Given the description of an element on the screen output the (x, y) to click on. 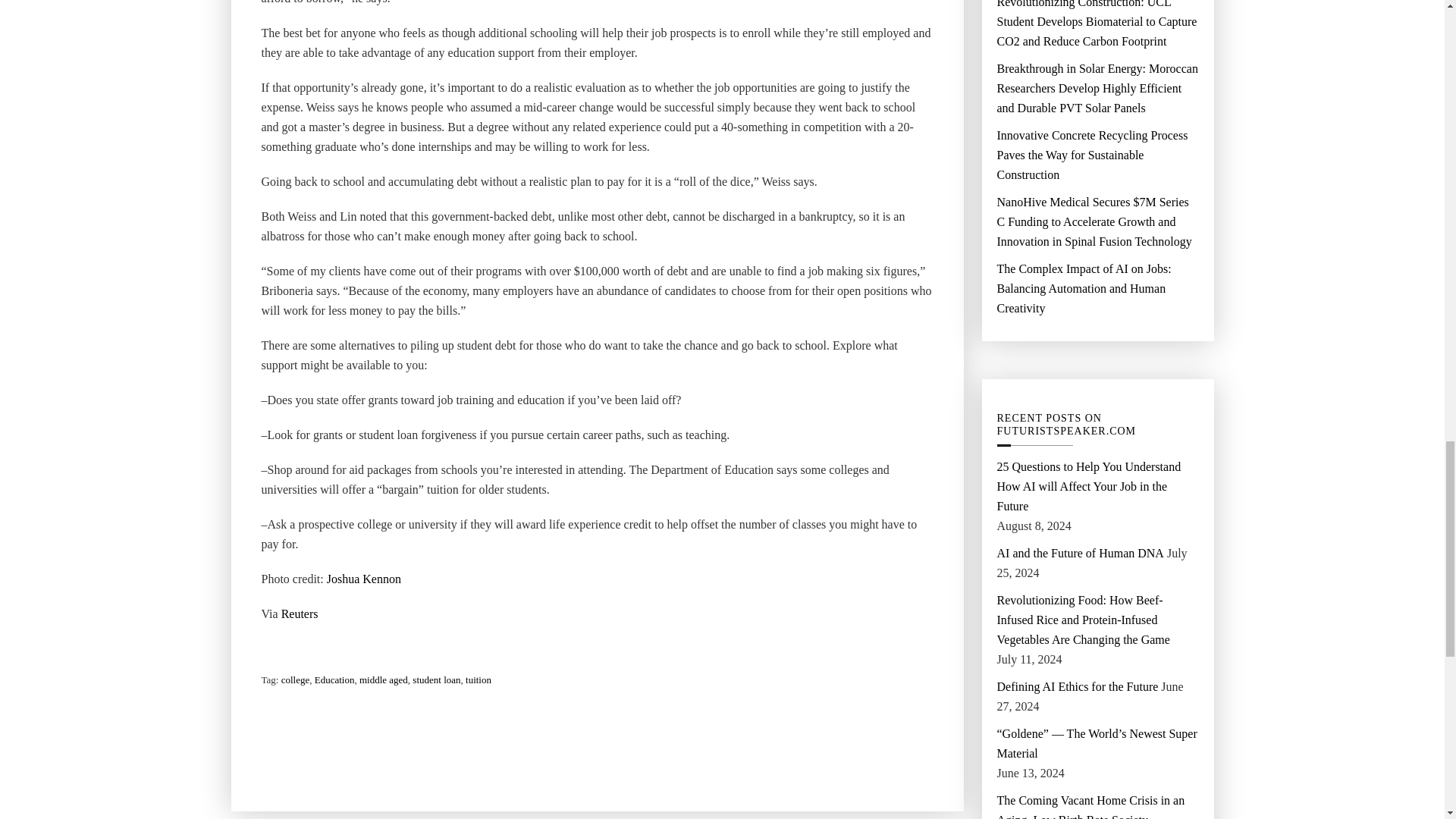
Joshua Kennon (363, 578)
middle aged (383, 680)
student loan (436, 680)
college (295, 680)
tuition (478, 680)
Reuters (299, 614)
Education (334, 680)
